Given the description of an element on the screen output the (x, y) to click on. 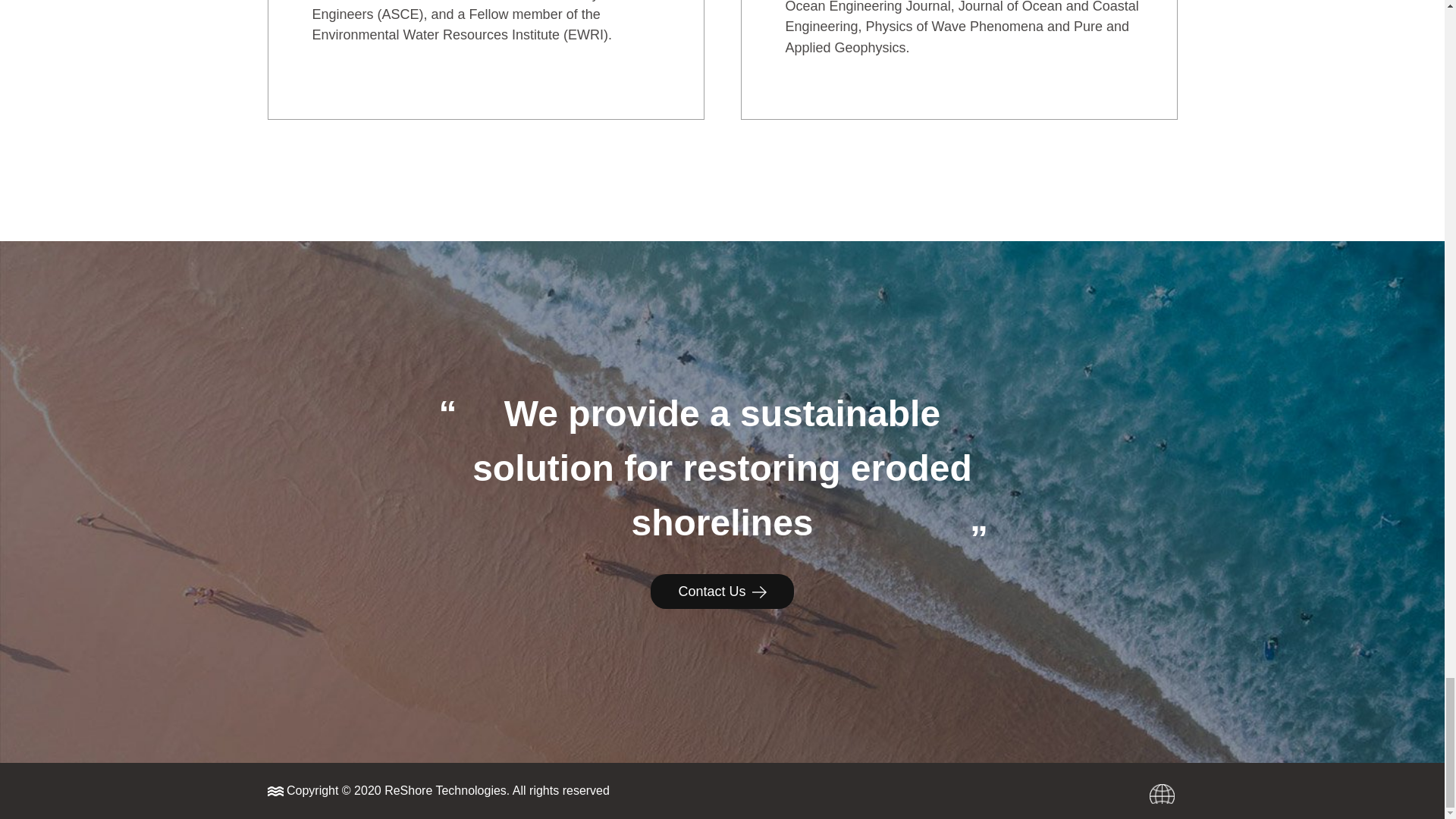
Contact Us (721, 591)
